Given the description of an element on the screen output the (x, y) to click on. 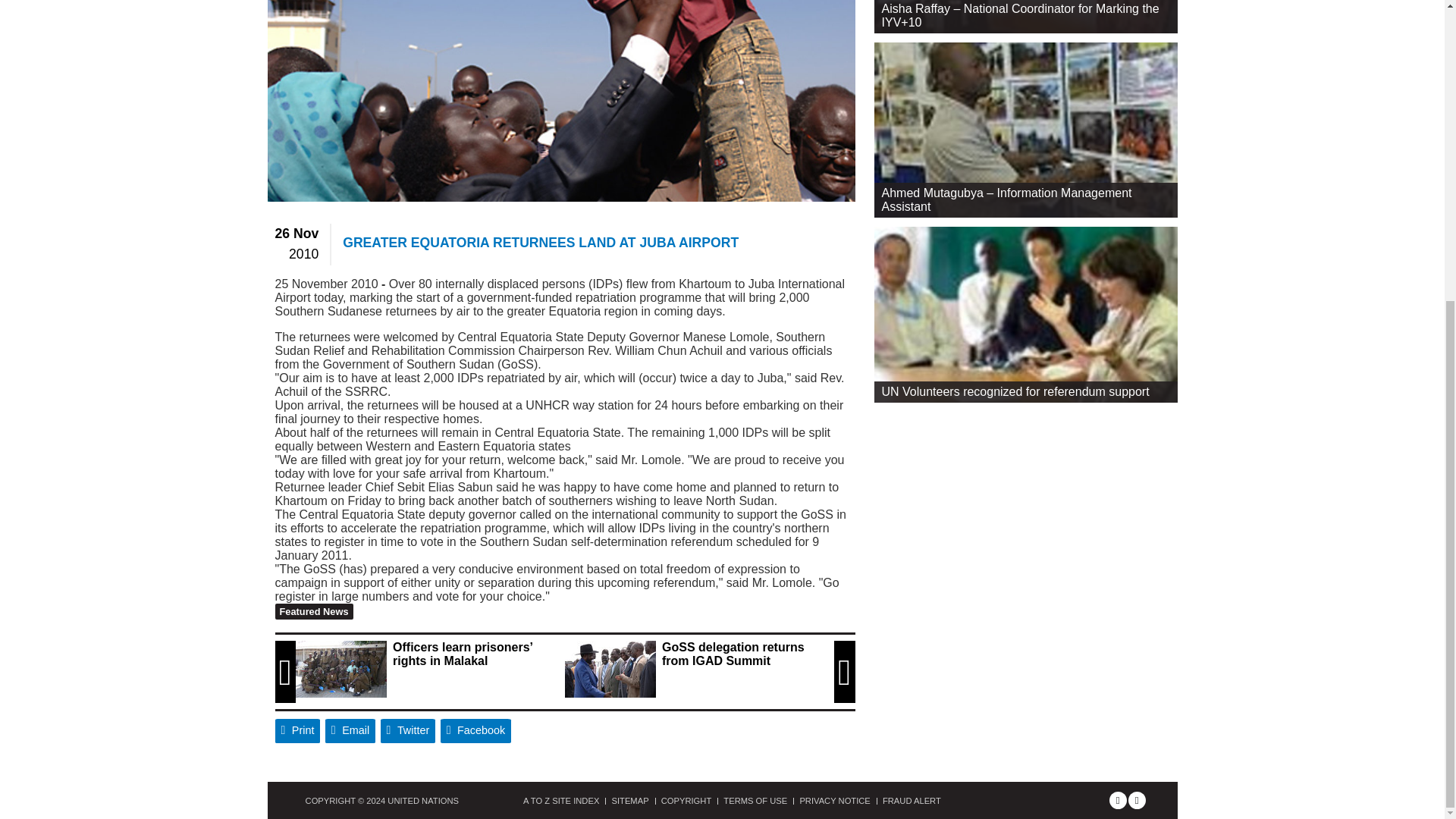
Twitter (407, 730)
Email (349, 730)
Facebook (476, 730)
Print (297, 730)
GoSS delegation returns from IGAD Summit (610, 668)
